Given the description of an element on the screen output the (x, y) to click on. 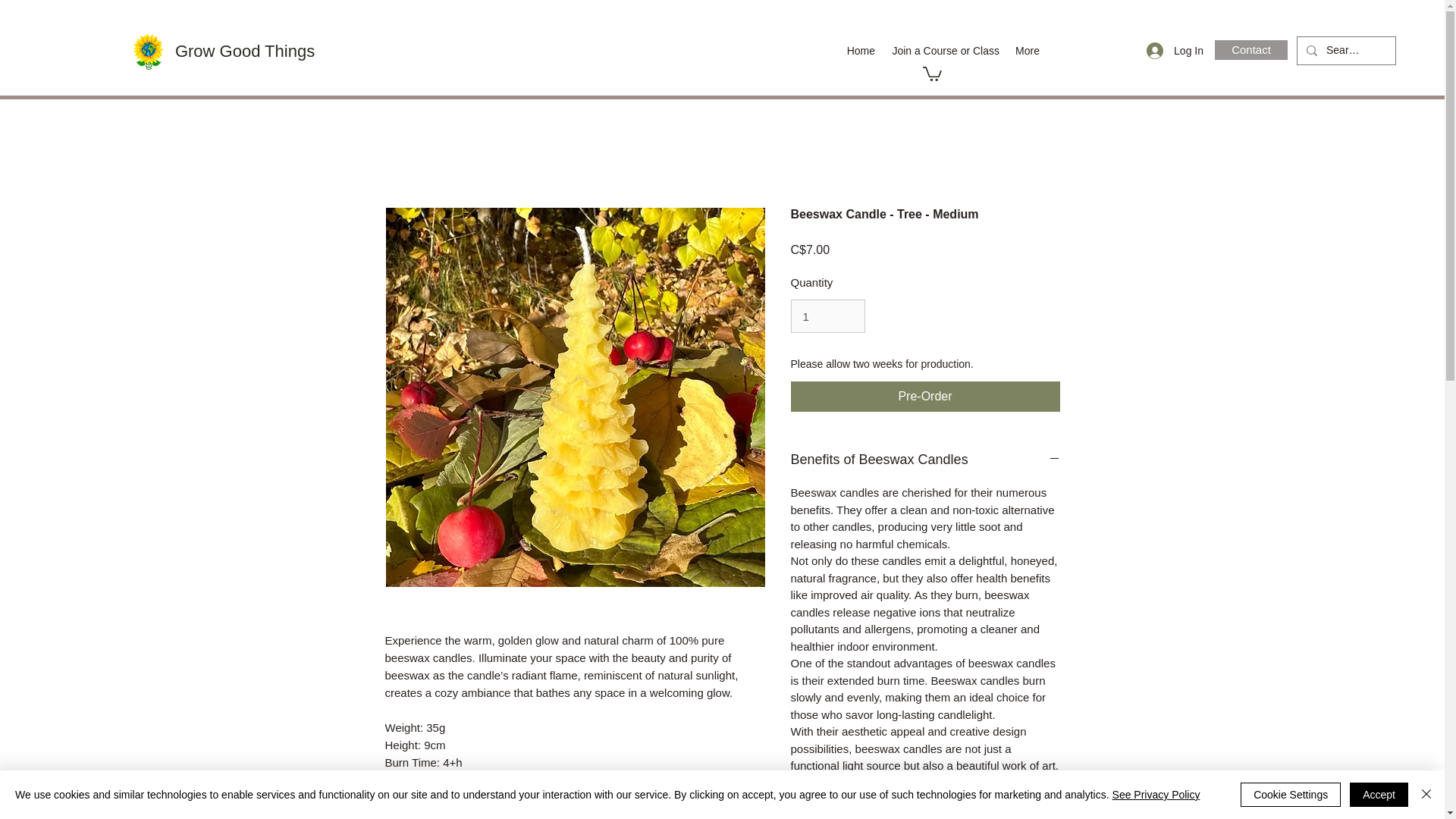
Pre-Order (924, 396)
Home (860, 50)
Log In (1174, 50)
Benefits of Beeswax Candles (924, 459)
Cookie Settings (1290, 794)
1 (827, 315)
Join a Course or Class (944, 50)
Contact (1251, 49)
Accept (1378, 794)
See Privacy Policy (1155, 794)
